Given the description of an element on the screen output the (x, y) to click on. 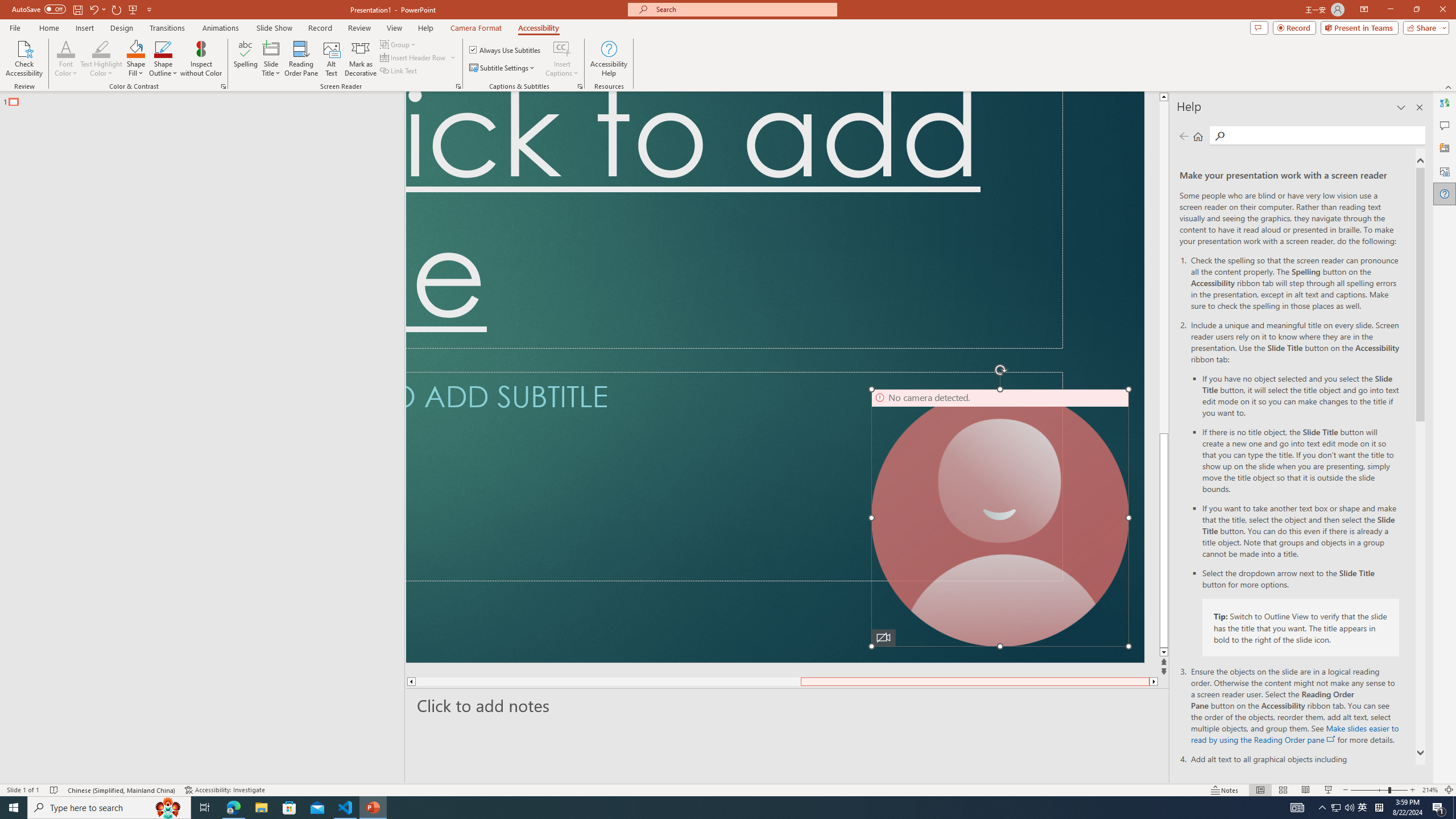
Outline (207, 99)
Insert Header Row (413, 56)
Mark as Decorative (360, 58)
Camera 8, No camera detected. (999, 517)
